Given the description of an element on the screen output the (x, y) to click on. 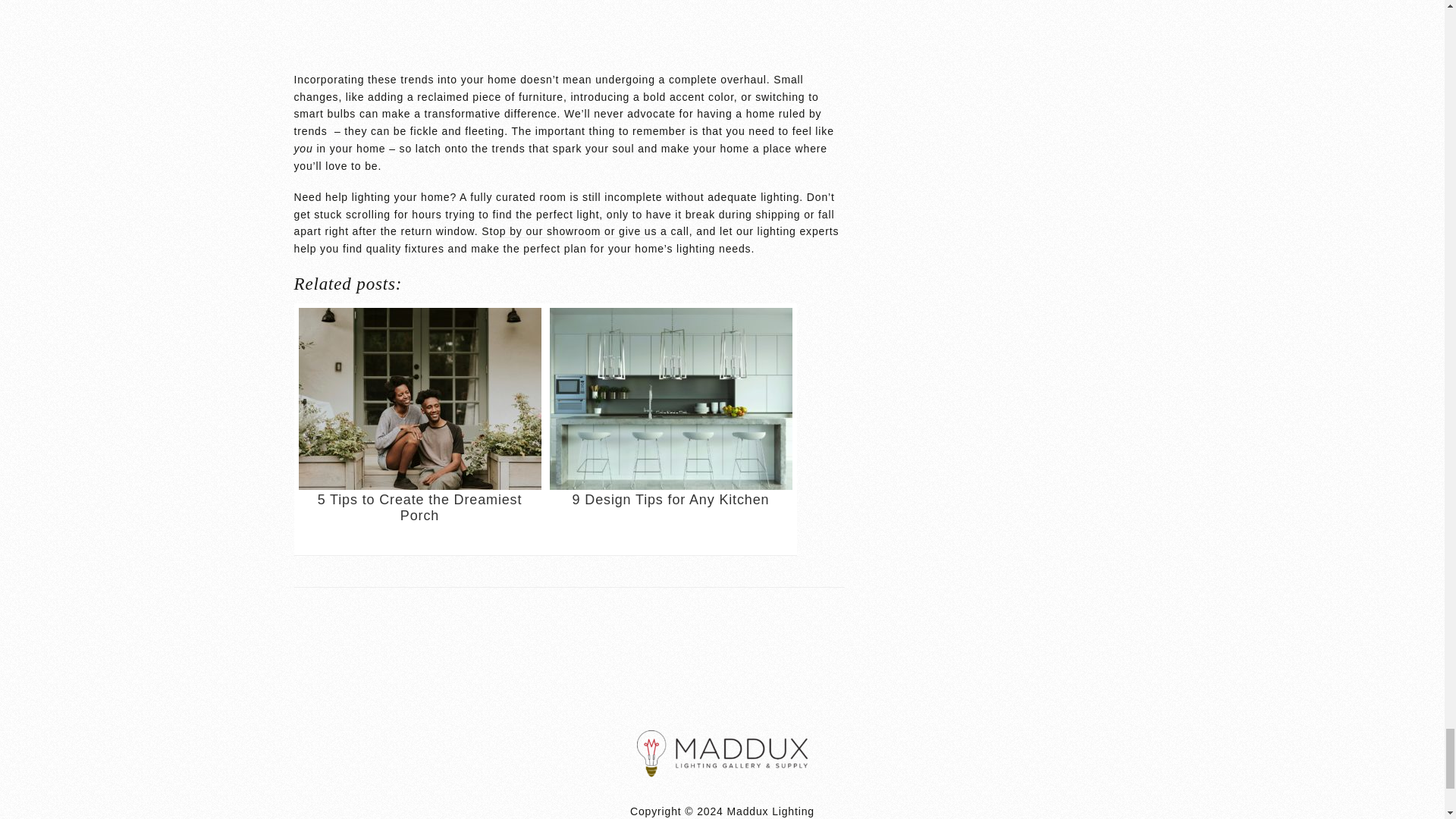
9 Design Tips for Any Kitchen (670, 429)
Stop by our showroom or give us a call (584, 231)
5 Tips to Create the Dreamiest Porch (420, 429)
